Given the description of an element on the screen output the (x, y) to click on. 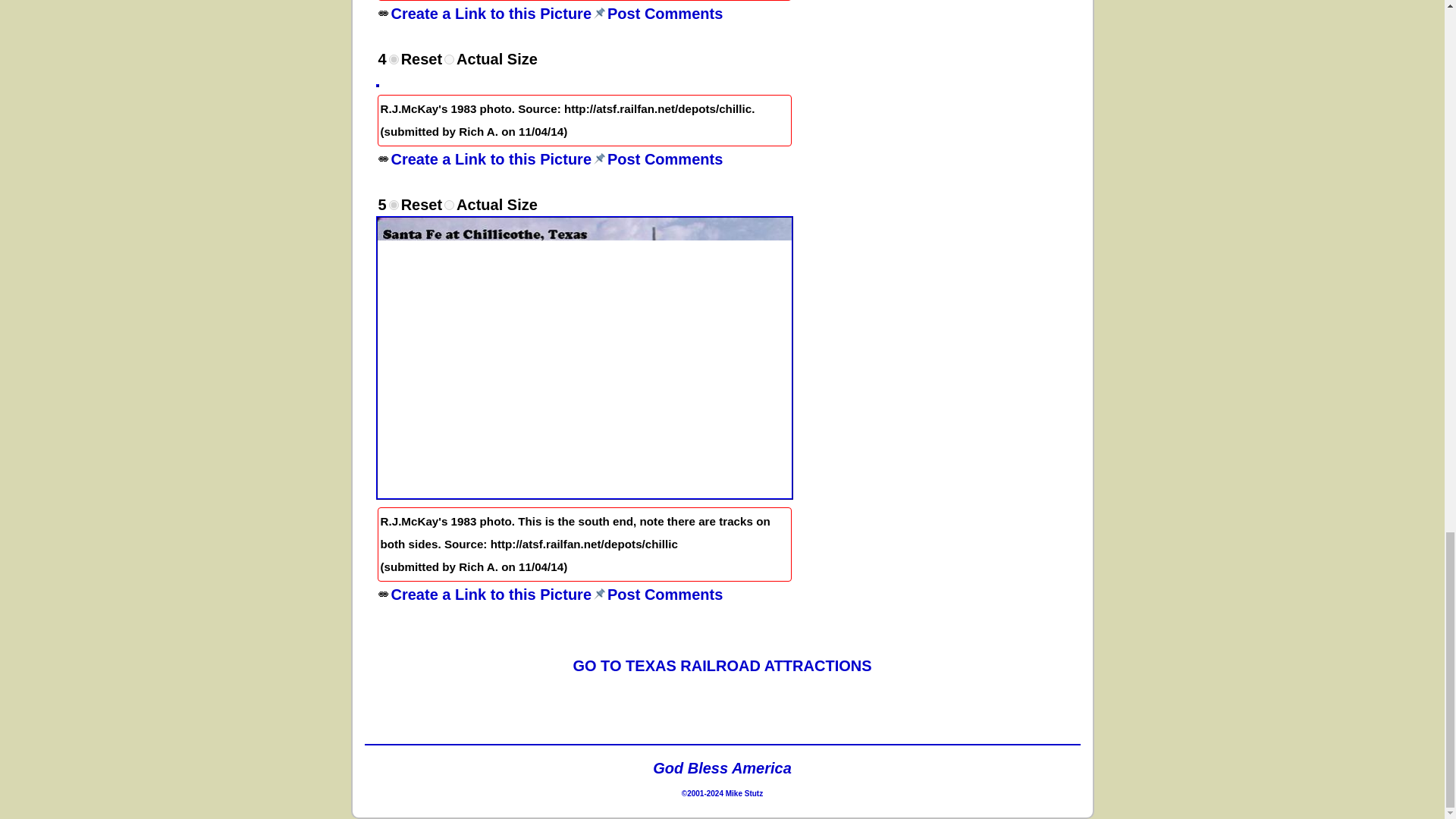
Create a Link to this Picture (491, 594)
on (393, 204)
Create a Link to this Picture (382, 593)
Create a Link to this Picture (382, 158)
Post Comments (664, 13)
on (449, 204)
Create a Link to this Picture (491, 158)
on (449, 59)
Post Comments (664, 158)
Create a Link to this Picture (491, 13)
